Given the description of an element on the screen output the (x, y) to click on. 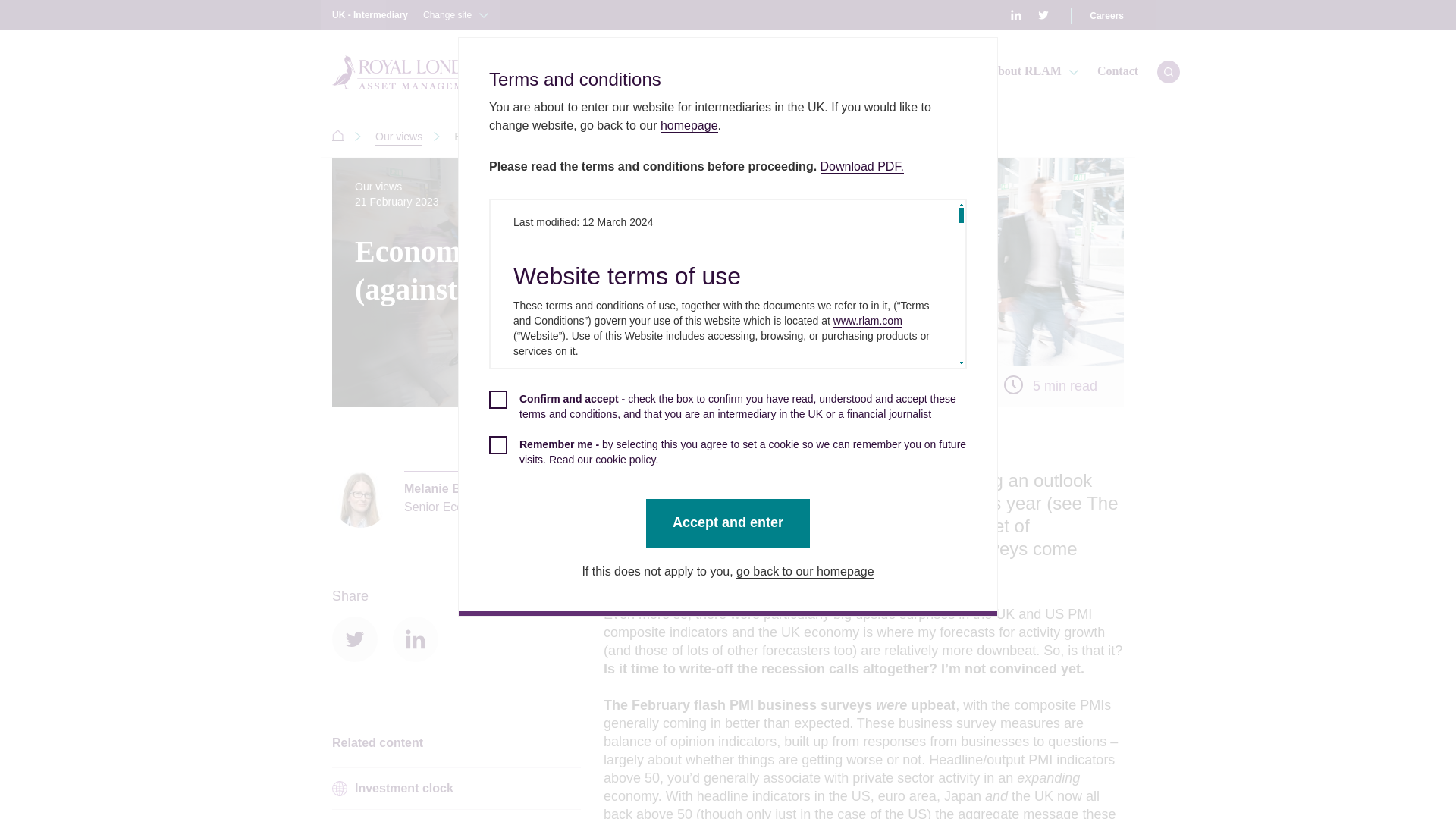
Share on LinkedIn (415, 638)
Tweet (354, 638)
Our views (398, 137)
LinkedIn (1016, 14)
Careers (1106, 15)
Our funds (561, 72)
Careers (1106, 15)
Intermediaries (337, 134)
Twitter (1042, 14)
UK - Intermediary (409, 15)
Our capabilities (665, 72)
